Given the description of an element on the screen output the (x, y) to click on. 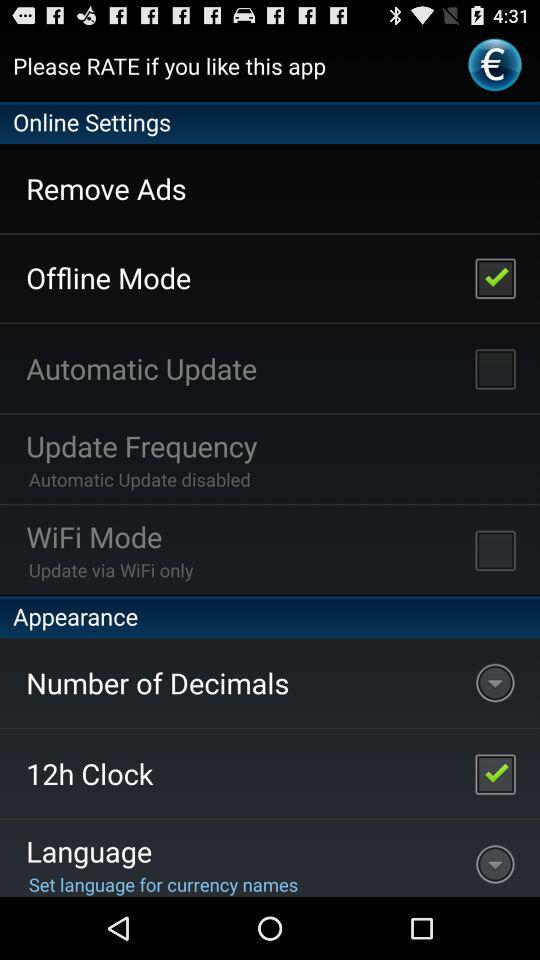
offline mode (495, 277)
